Given the description of an element on the screen output the (x, y) to click on. 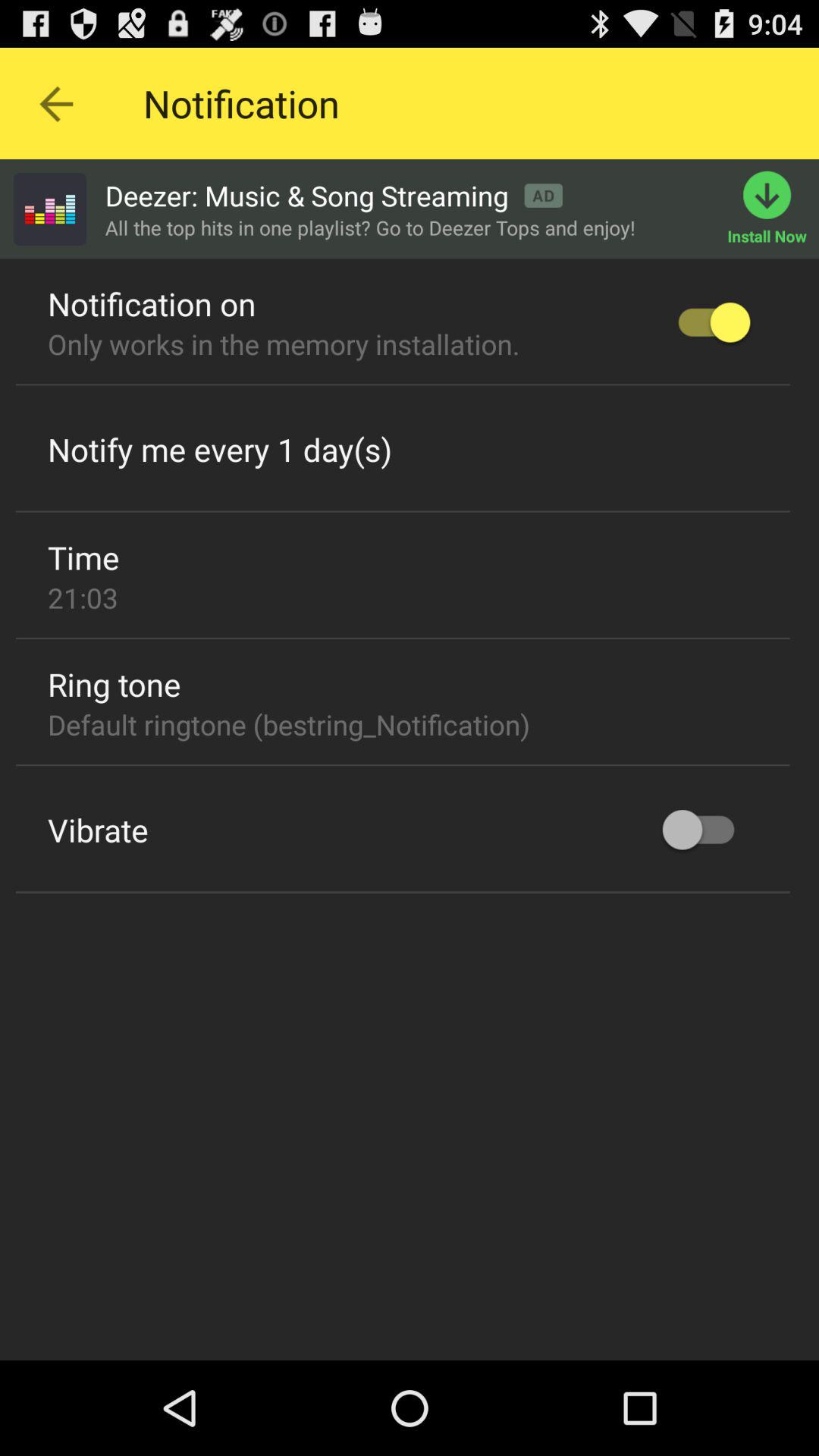
click the item next to the install now icon (333, 195)
